Given the description of an element on the screen output the (x, y) to click on. 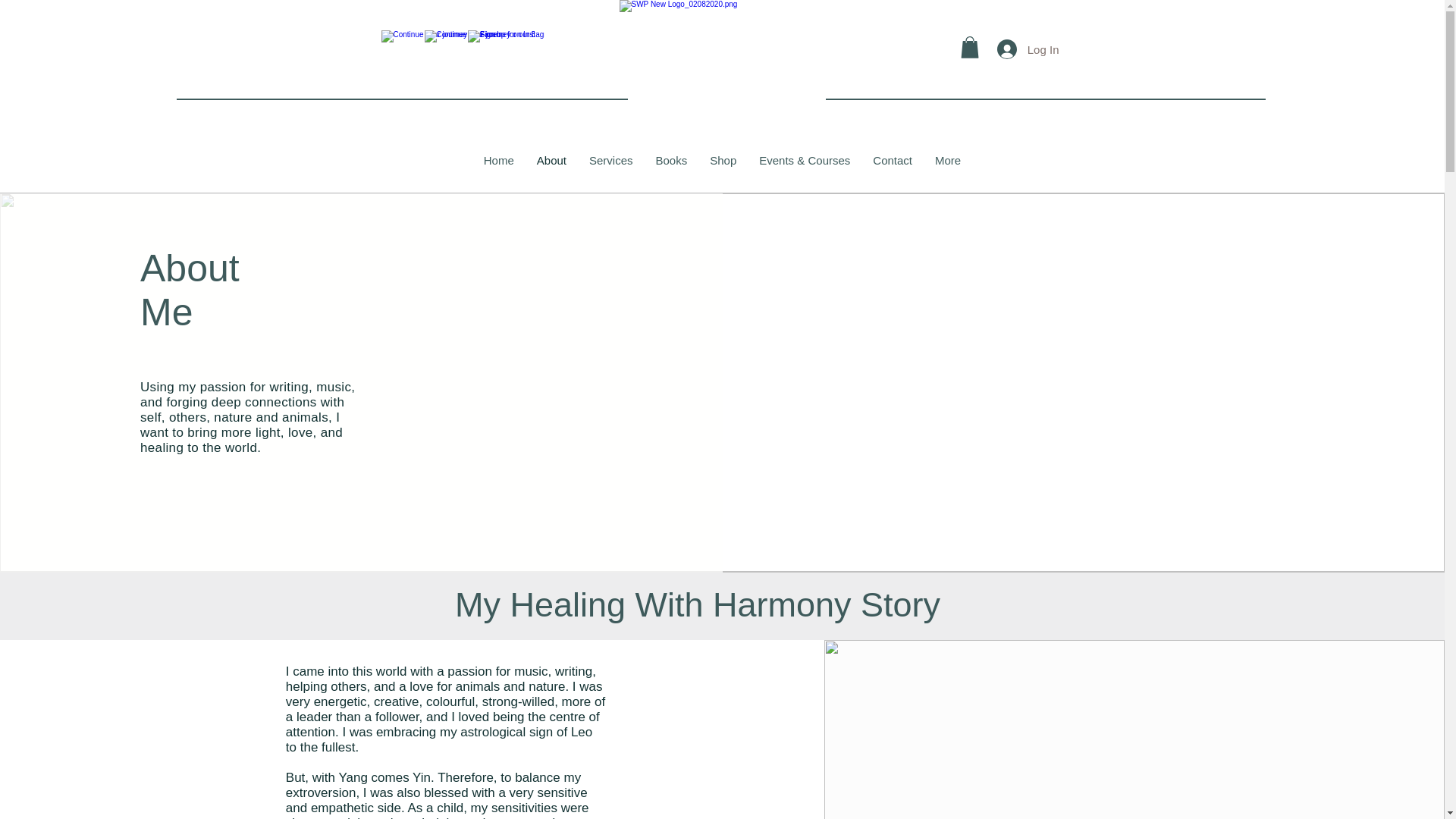
Log In (1028, 49)
Services (611, 167)
Shop (723, 167)
Books (671, 167)
Home (498, 167)
About (551, 167)
Contact (892, 167)
